Given the description of an element on the screen output the (x, y) to click on. 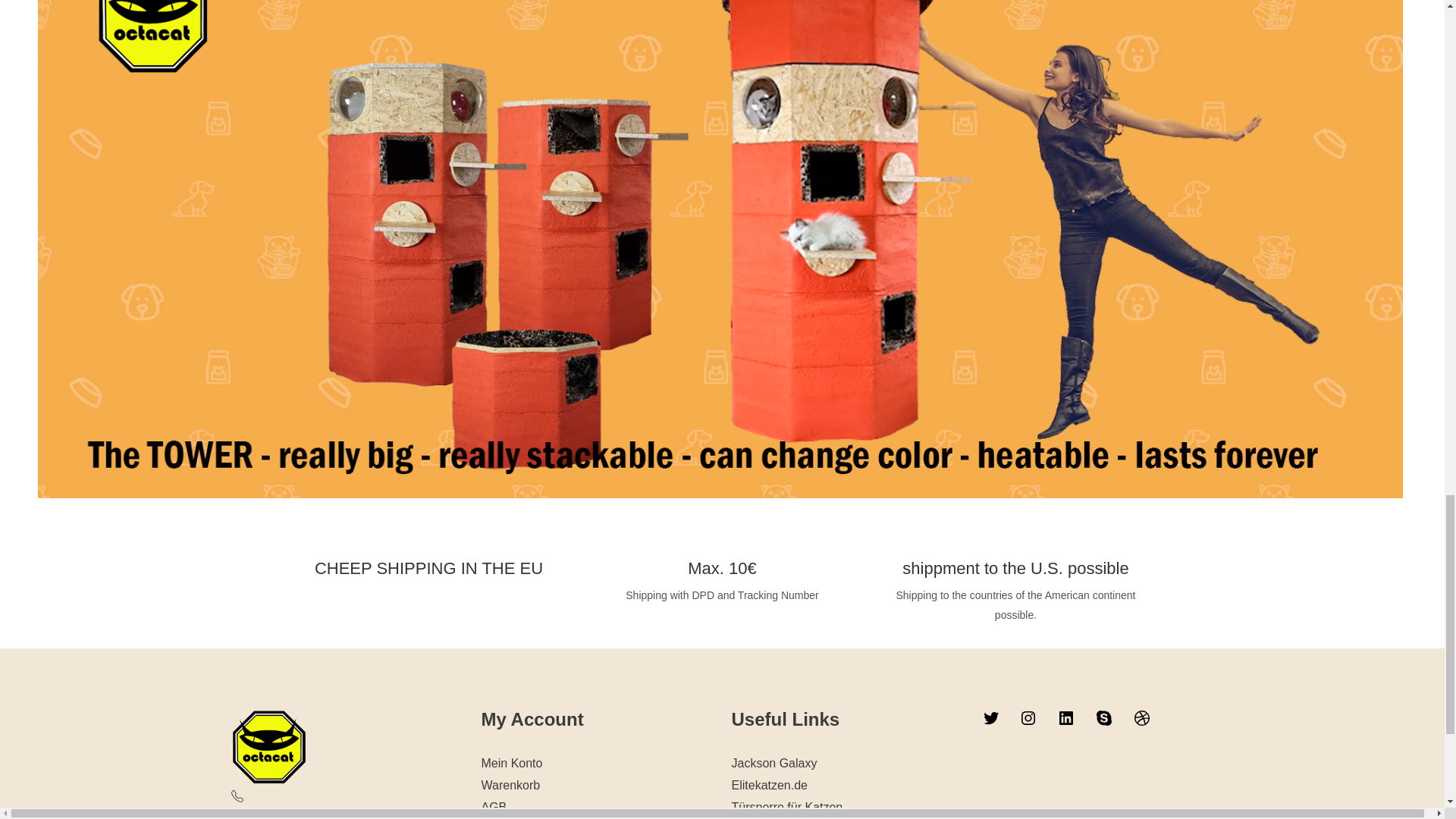
Mein Konto (510, 762)
Skype (1103, 717)
Elitekatzen.de (769, 784)
LinkedIn (1066, 717)
Dribbble (1141, 717)
Jackson Galaxy (773, 762)
AGB (493, 807)
Warenkorb (510, 784)
Instagram (1027, 717)
Twitter (989, 717)
